Given the description of an element on the screen output the (x, y) to click on. 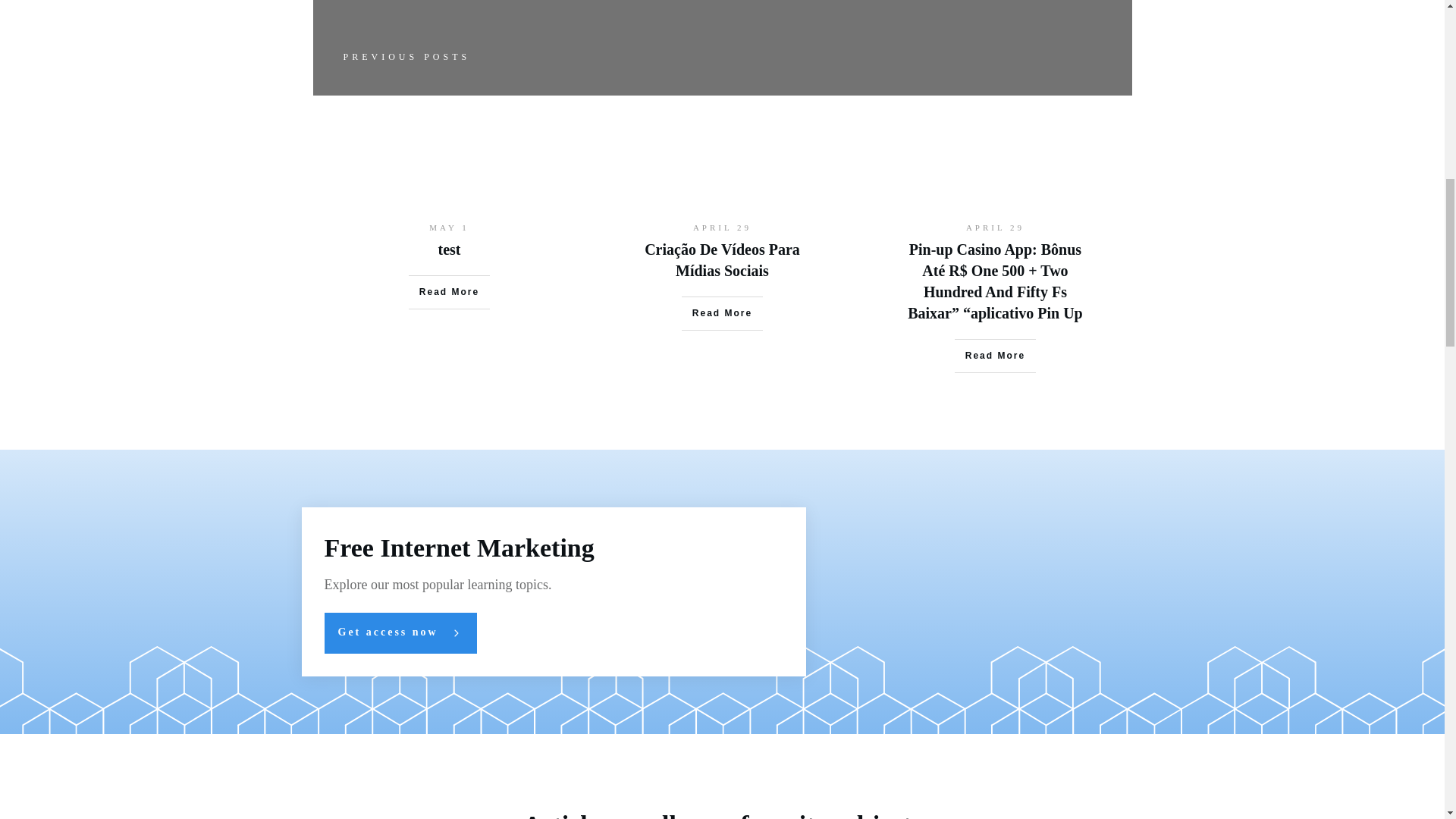
Get access now (400, 632)
Read More (721, 313)
Read More (449, 291)
test (449, 248)
test (449, 248)
Read More (995, 355)
